Given the description of an element on the screen output the (x, y) to click on. 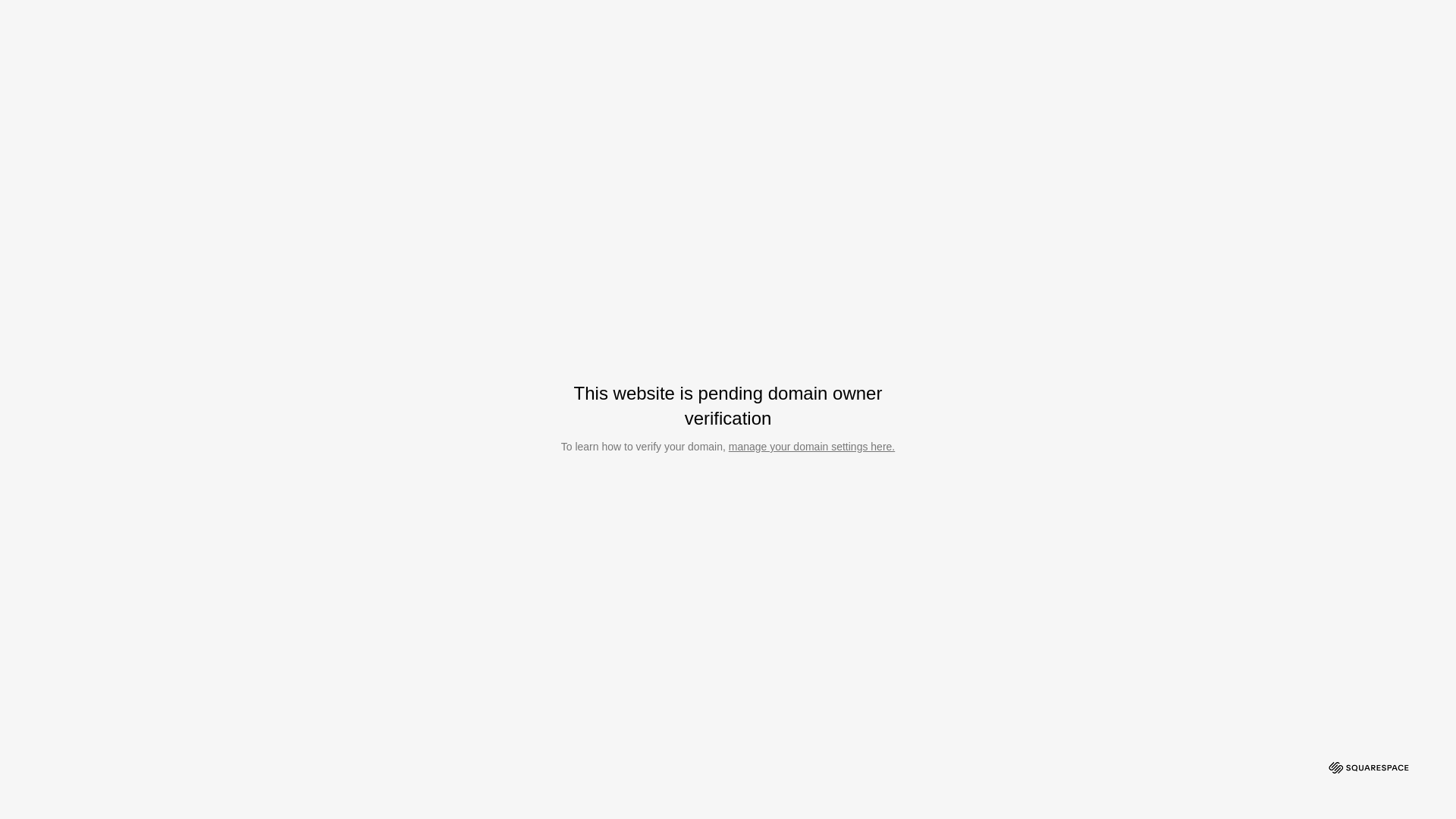
manage your domain settings here. Element type: text (811, 446)
